Given the description of an element on the screen output the (x, y) to click on. 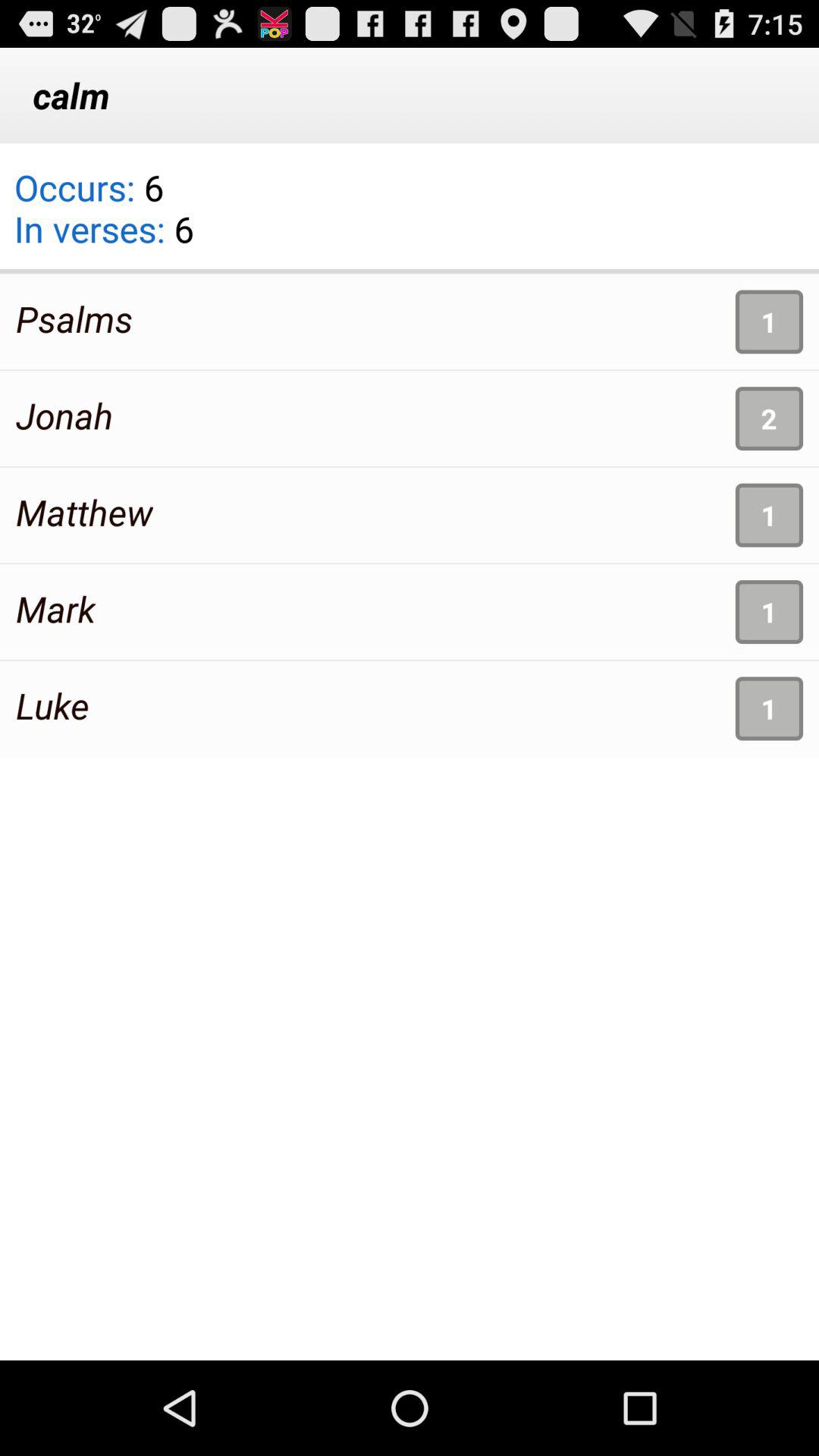
open the occurs 6 in (103, 218)
